Given the description of an element on the screen output the (x, y) to click on. 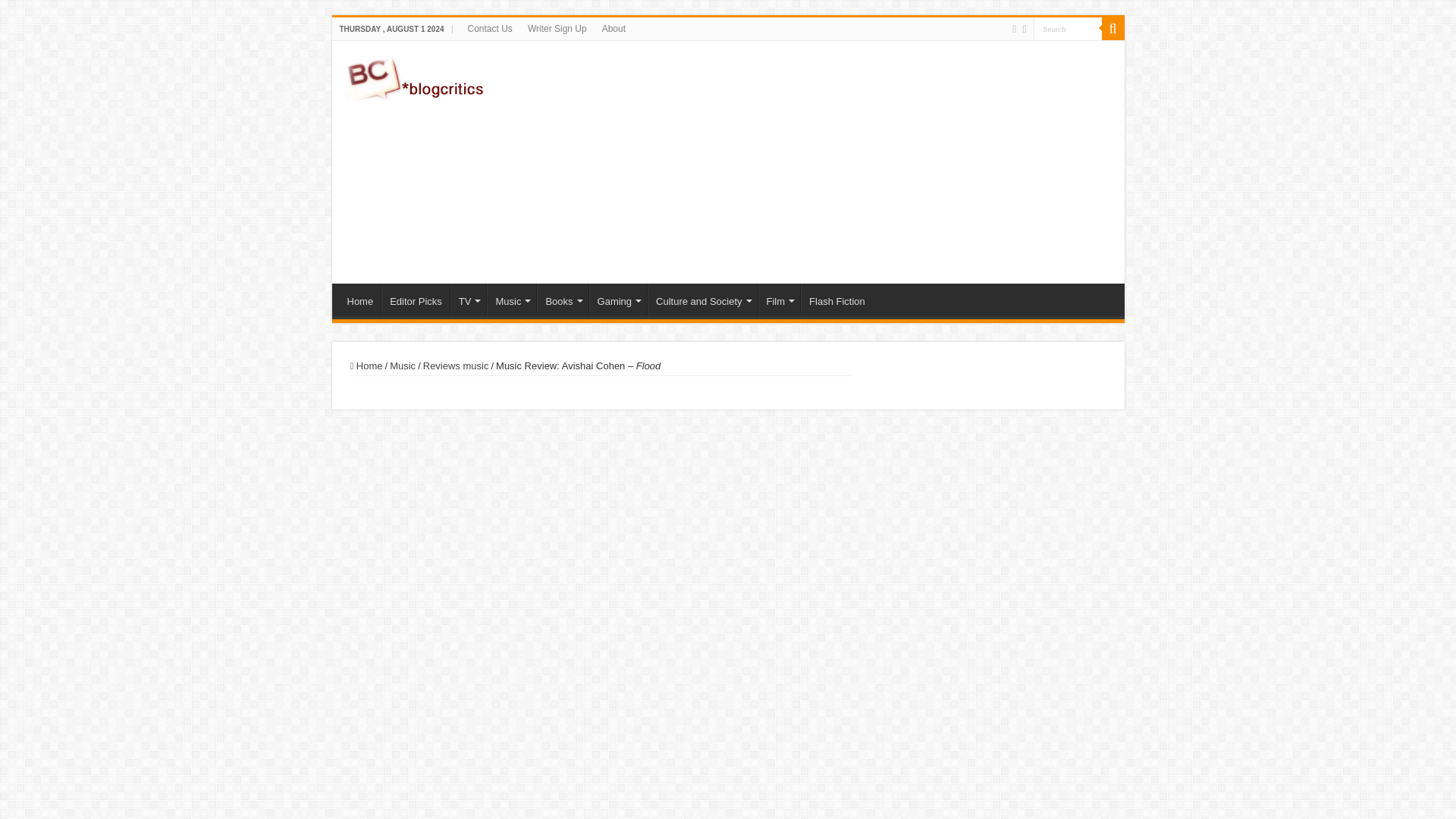
Culture and Society (702, 299)
Home (360, 299)
Gaming (618, 299)
Search (1066, 28)
Writer Sign Up (556, 28)
Books (562, 299)
Search (1066, 28)
Blogcritics (414, 75)
TV (467, 299)
Search (1066, 28)
Search (1112, 28)
Editor Picks (415, 299)
Contact Us (489, 28)
Music (510, 299)
About (613, 28)
